Given the description of an element on the screen output the (x, y) to click on. 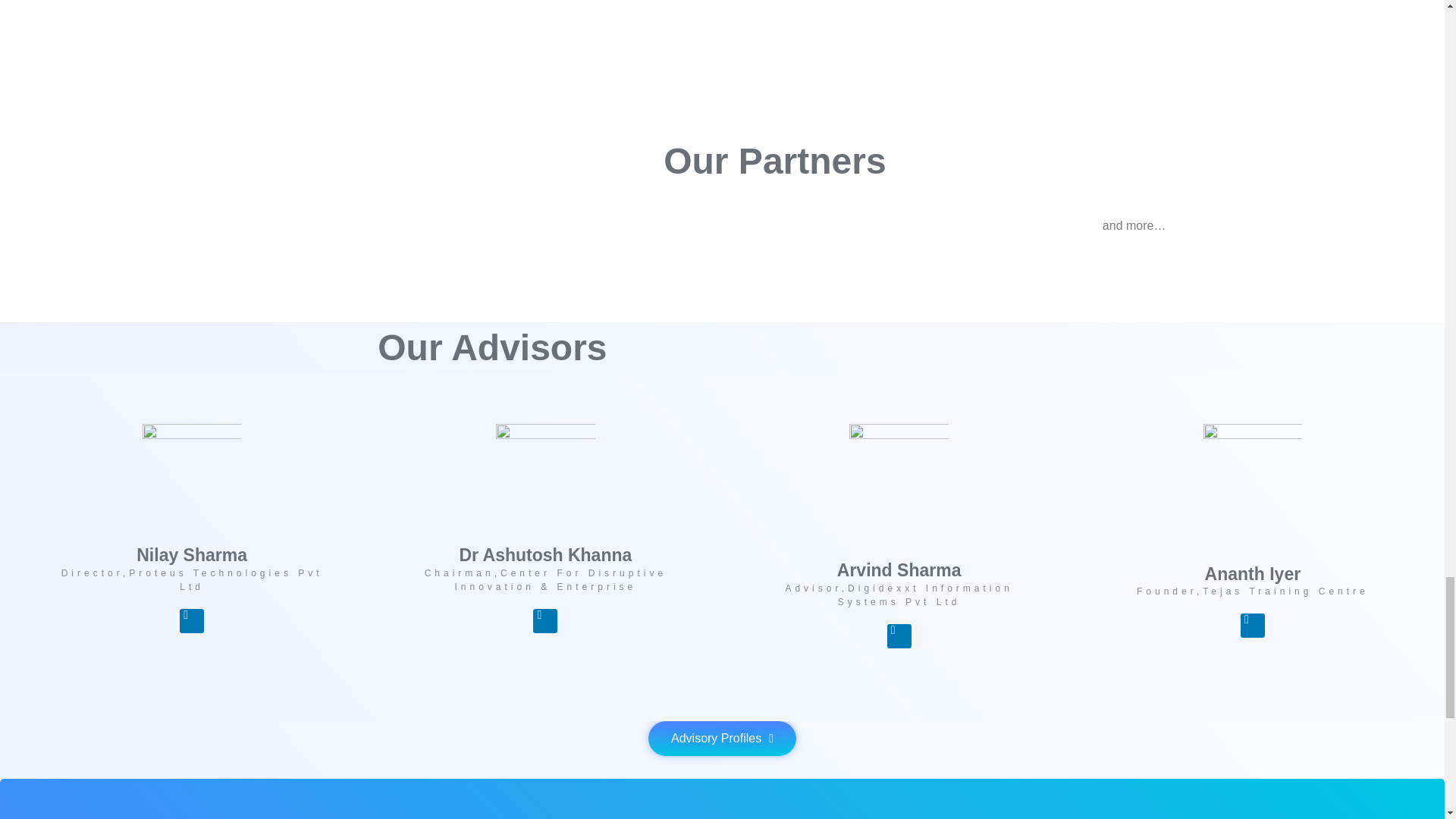
Arvind Sharma (898, 569)
Nilay Sharma (191, 555)
Ananth Iyer (1253, 573)
Dr Ashutosh Khanna (544, 555)
Advisory Profiles (721, 738)
